Given the description of an element on the screen output the (x, y) to click on. 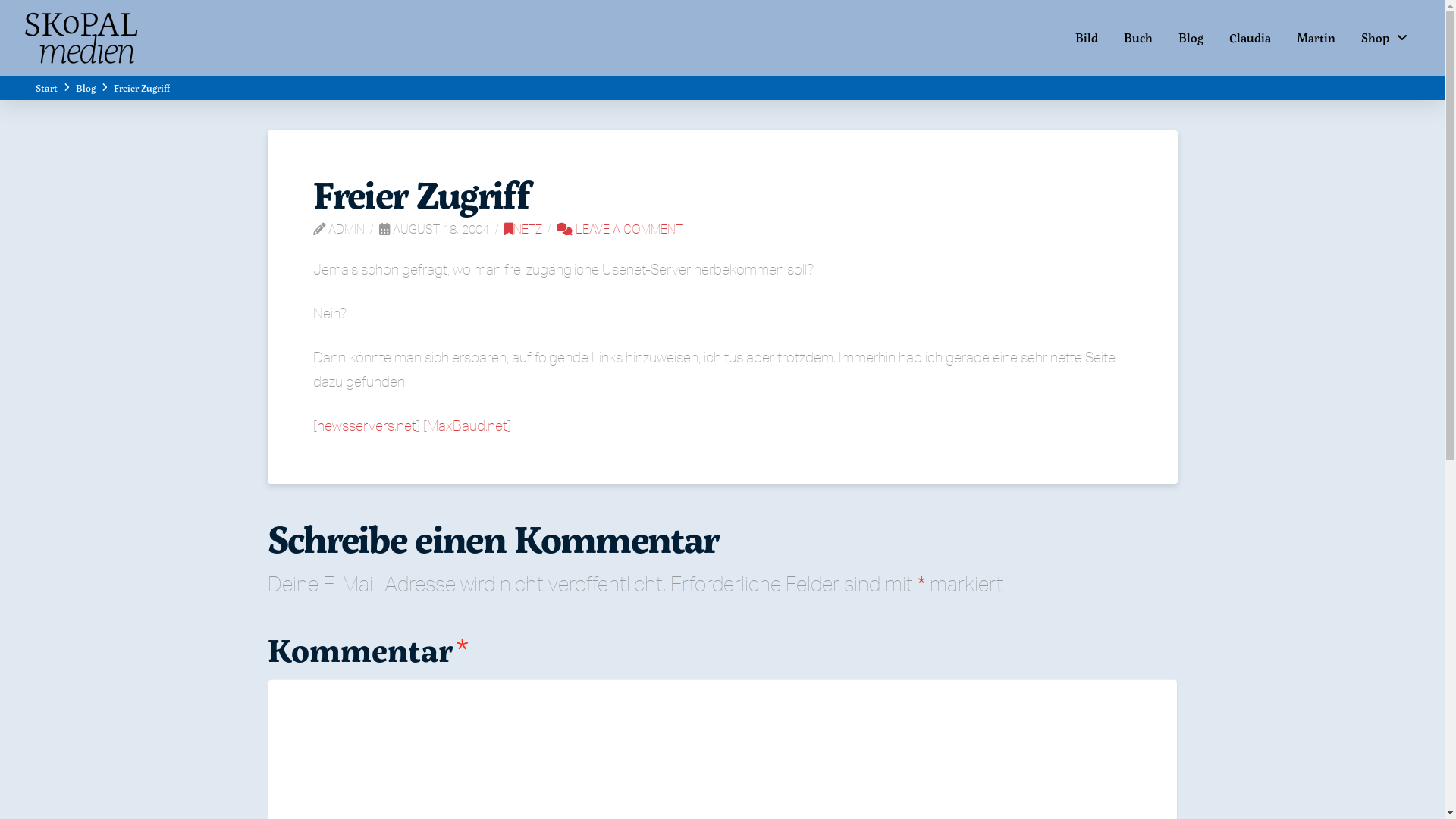
Claudia Element type: text (1249, 37)
Buch Element type: text (1137, 37)
NETZ Element type: text (523, 228)
Martin Element type: text (1315, 37)
Bild Element type: text (1086, 37)
Freier Zugriff Element type: text (141, 87)
MaxBaud.net Element type: text (466, 424)
Shop Element type: text (1384, 37)
Start Element type: text (46, 87)
Blog Element type: text (1190, 37)
newsservers.net Element type: text (366, 424)
Blog Element type: text (85, 87)
LEAVE A COMMENT Element type: text (619, 228)
